Given the description of an element on the screen output the (x, y) to click on. 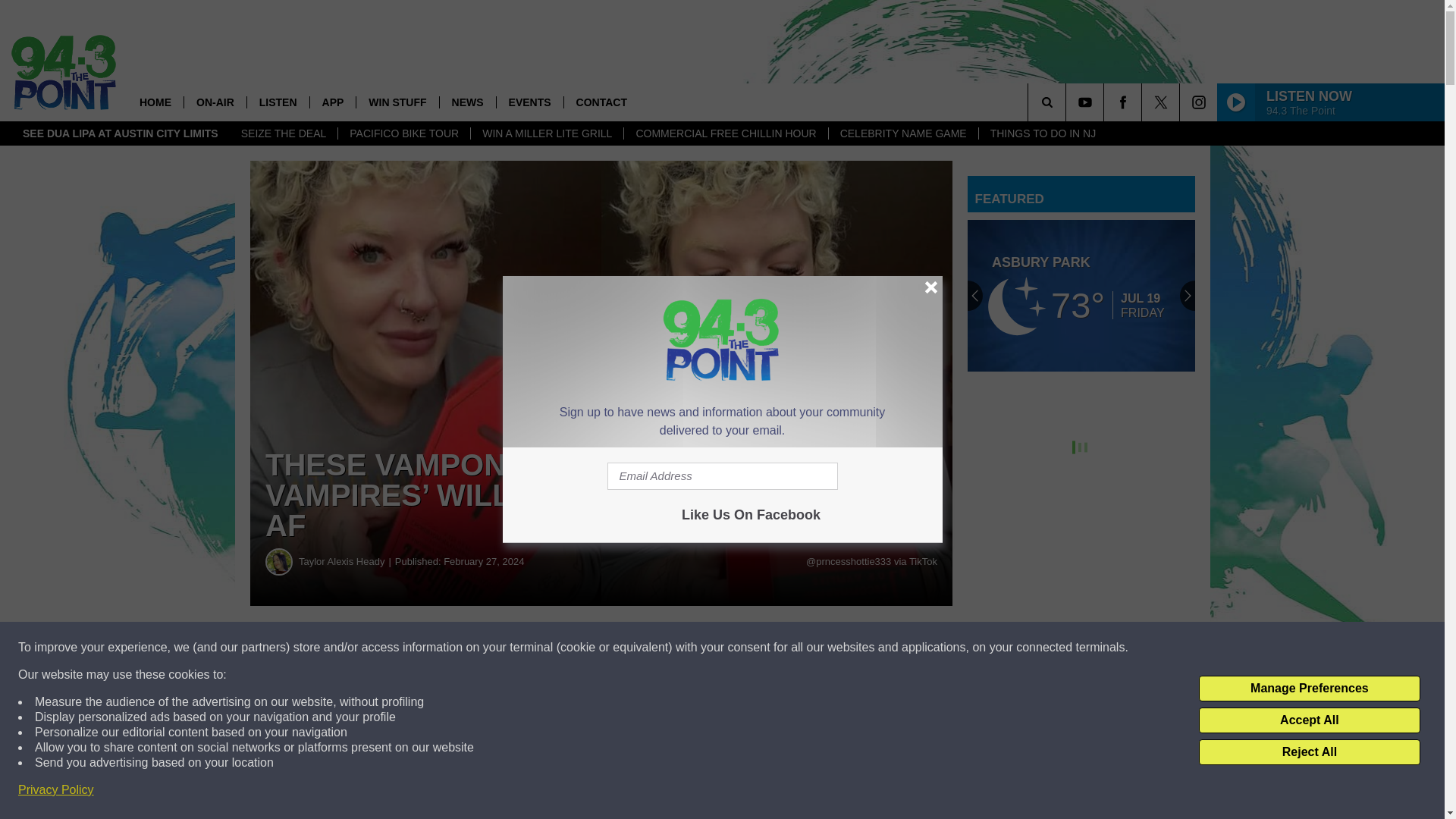
THINGS TO DO IN NJ (1043, 133)
SEARCH (1068, 102)
Manage Preferences (1309, 688)
SHARE (460, 647)
PACIFICO BIKE TOUR (403, 133)
Privacy Policy (55, 789)
WIN A MILLER LITE GRILL (546, 133)
CELEBRITY NAME GAME (903, 133)
SEIZE THE DEAL (283, 133)
SEARCH (1068, 102)
ON-AIR (214, 102)
Ocean Weather (1081, 295)
WIN STUFF (396, 102)
Email Address (722, 475)
SEE DUA LIPA AT AUSTIN CITY LIMITS (120, 133)
